Given the description of an element on the screen output the (x, y) to click on. 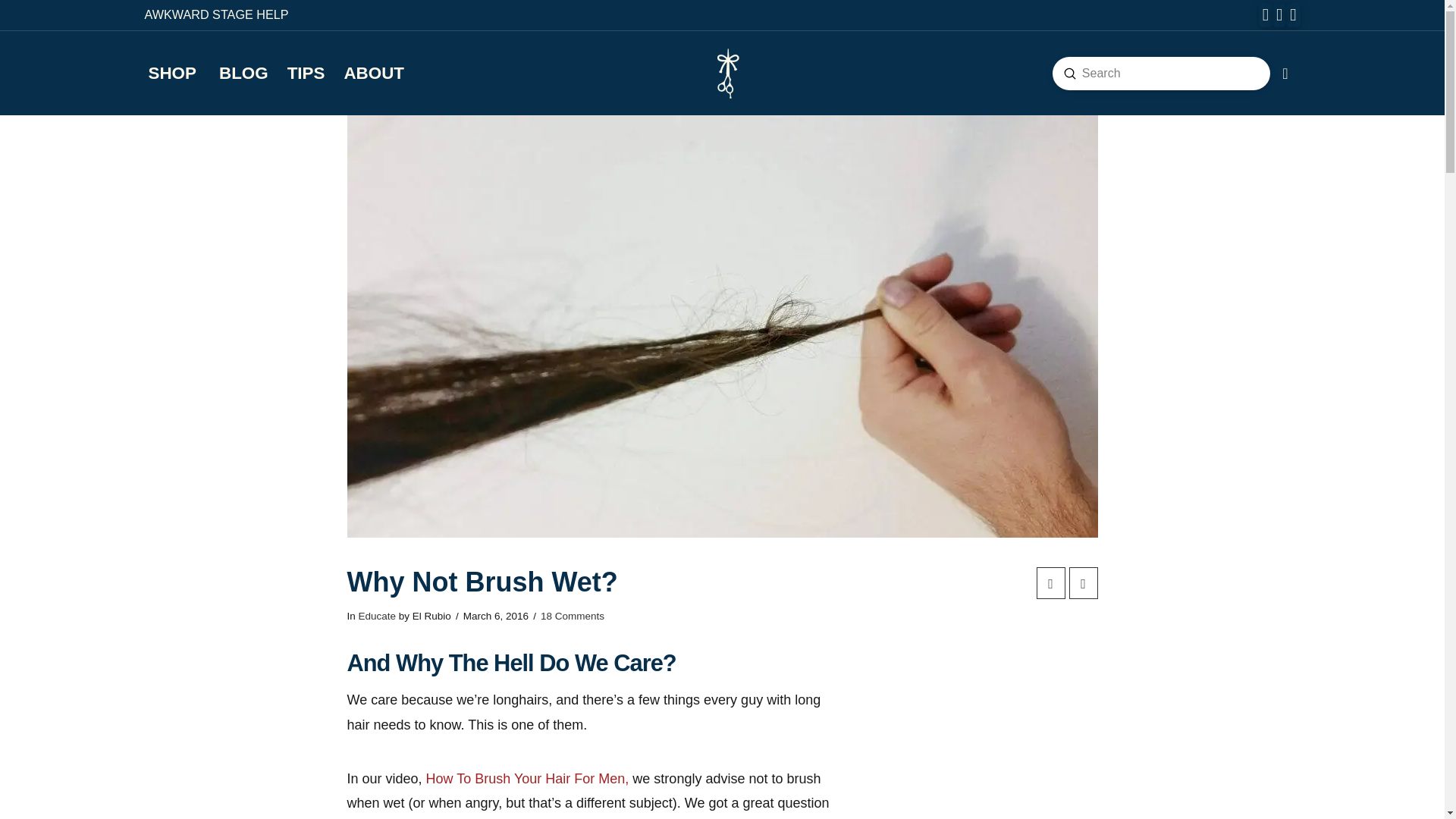
Submit (1069, 73)
BLOG (233, 73)
Educate (377, 615)
AWKWARD STAGE HELP (216, 14)
How To Brush Your Hair For Men, (527, 778)
18 Comments (572, 615)
ABOUT (364, 73)
TIPS (295, 73)
